Given the description of an element on the screen output the (x, y) to click on. 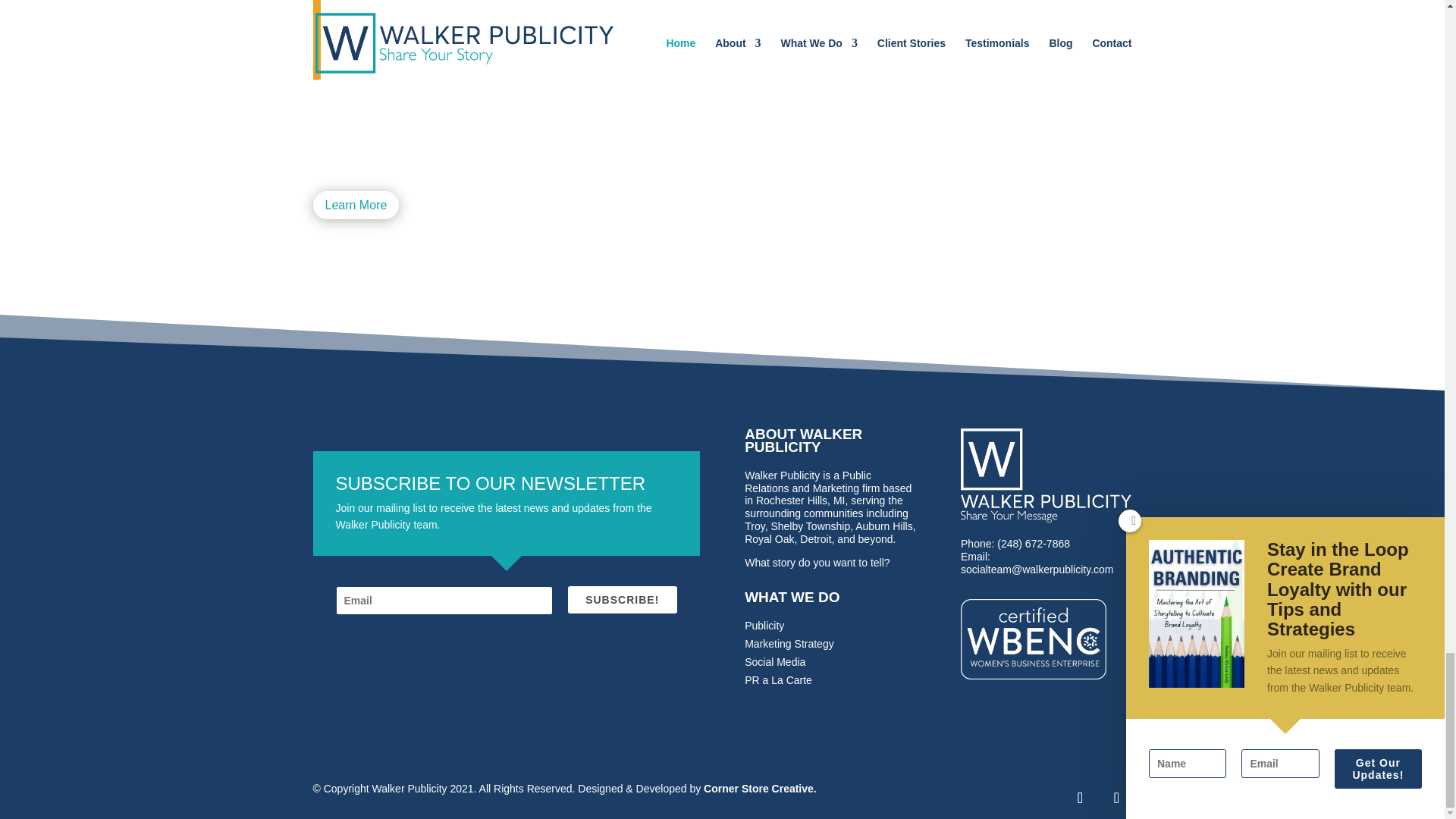
Follow on Facebook (1079, 797)
Follow on Instagram (1115, 797)
